Given the description of an element on the screen output the (x, y) to click on. 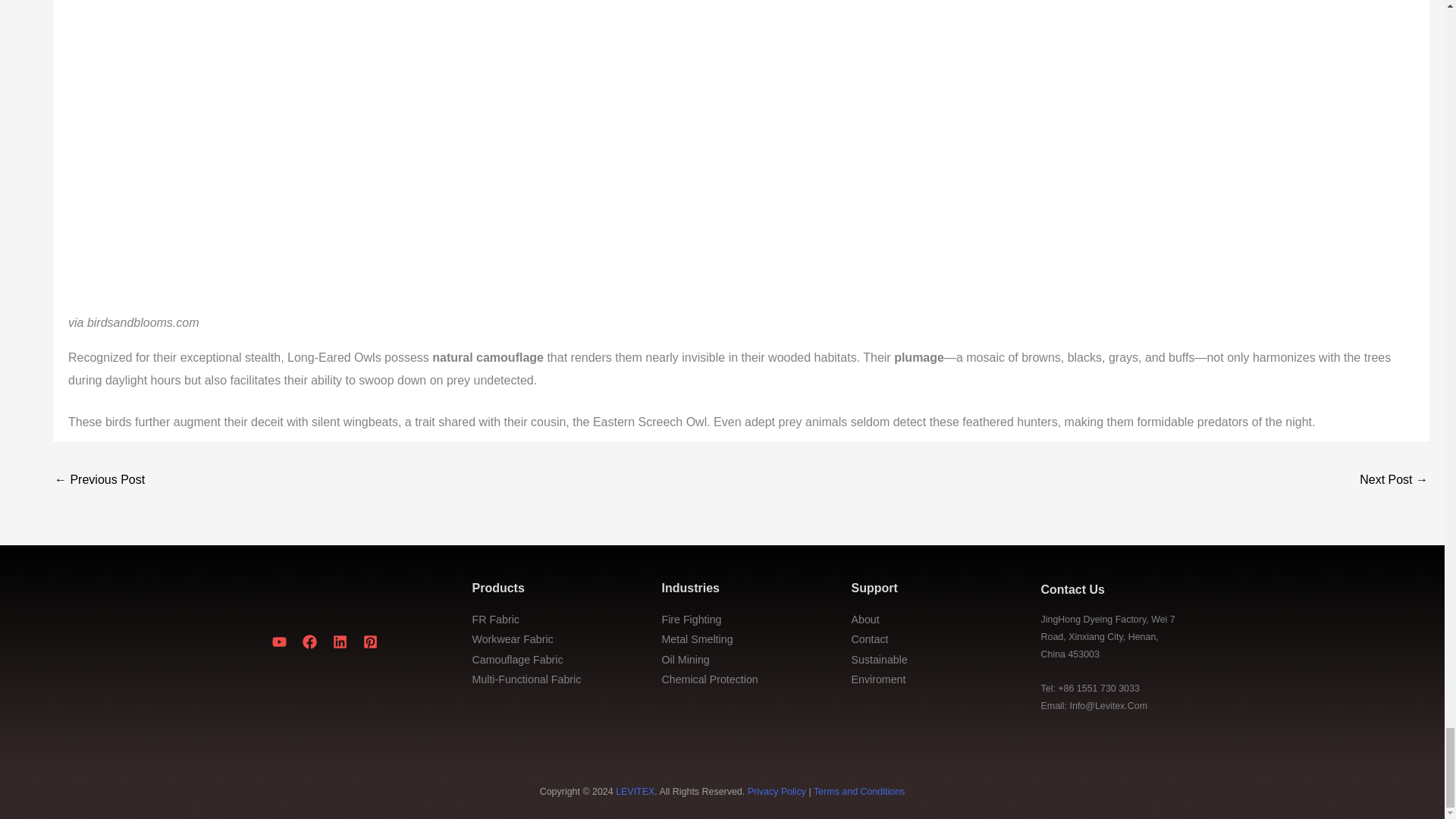
How Does Camouflage Work? (99, 480)
4 Best Camo Hunting Pants: Top Picks for Stealth and Comfort (1393, 480)
